Given the description of an element on the screen output the (x, y) to click on. 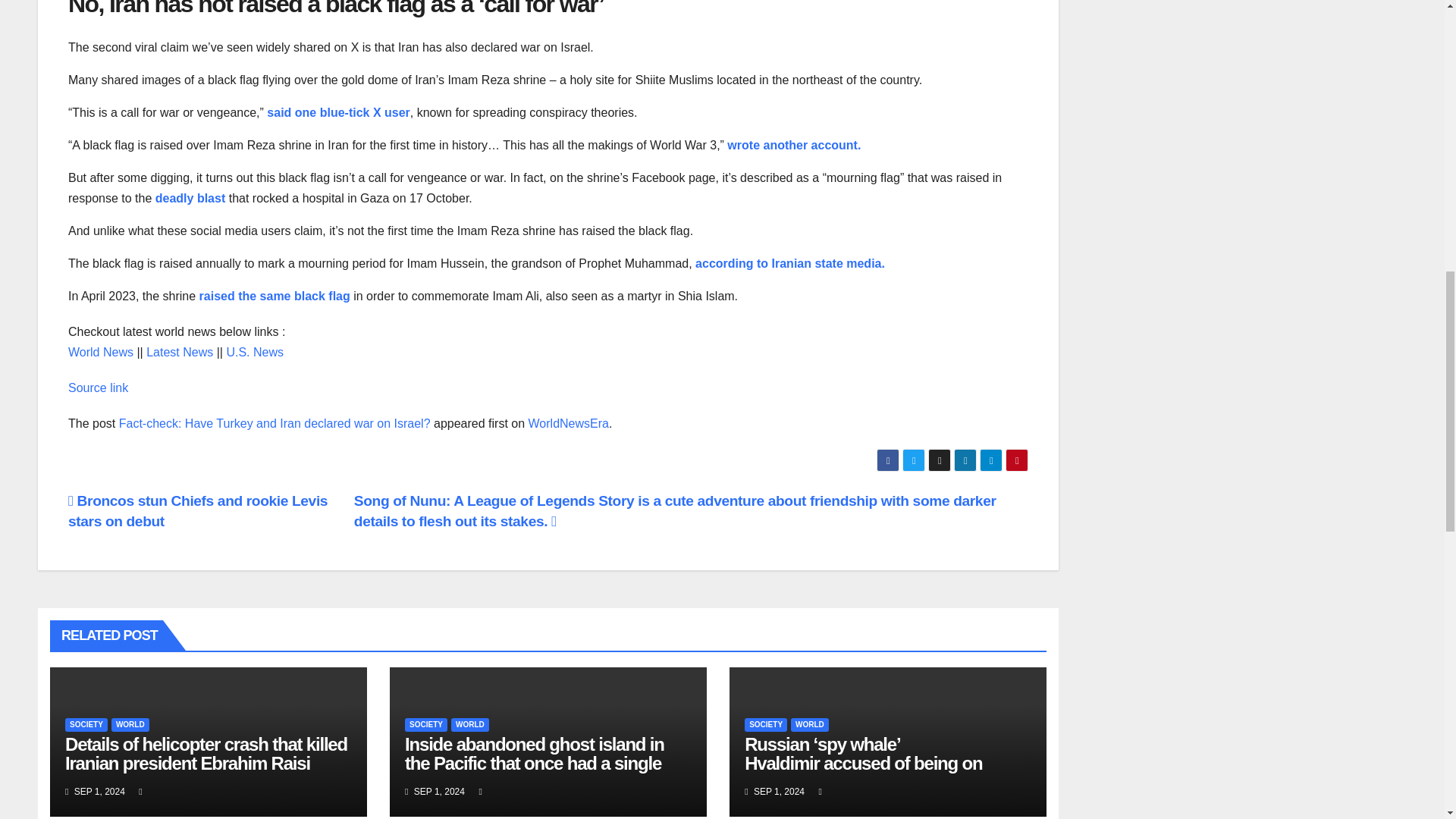
deadly blast (190, 197)
WorldNewsEra (568, 422)
raised the same black flag (274, 295)
according to Iranian state media. (790, 263)
Latest News (179, 351)
World News (100, 351)
Fact-check: Have Turkey and Iran declared war on Israel? (274, 422)
said one blue-tick X user (338, 112)
